Given the description of an element on the screen output the (x, y) to click on. 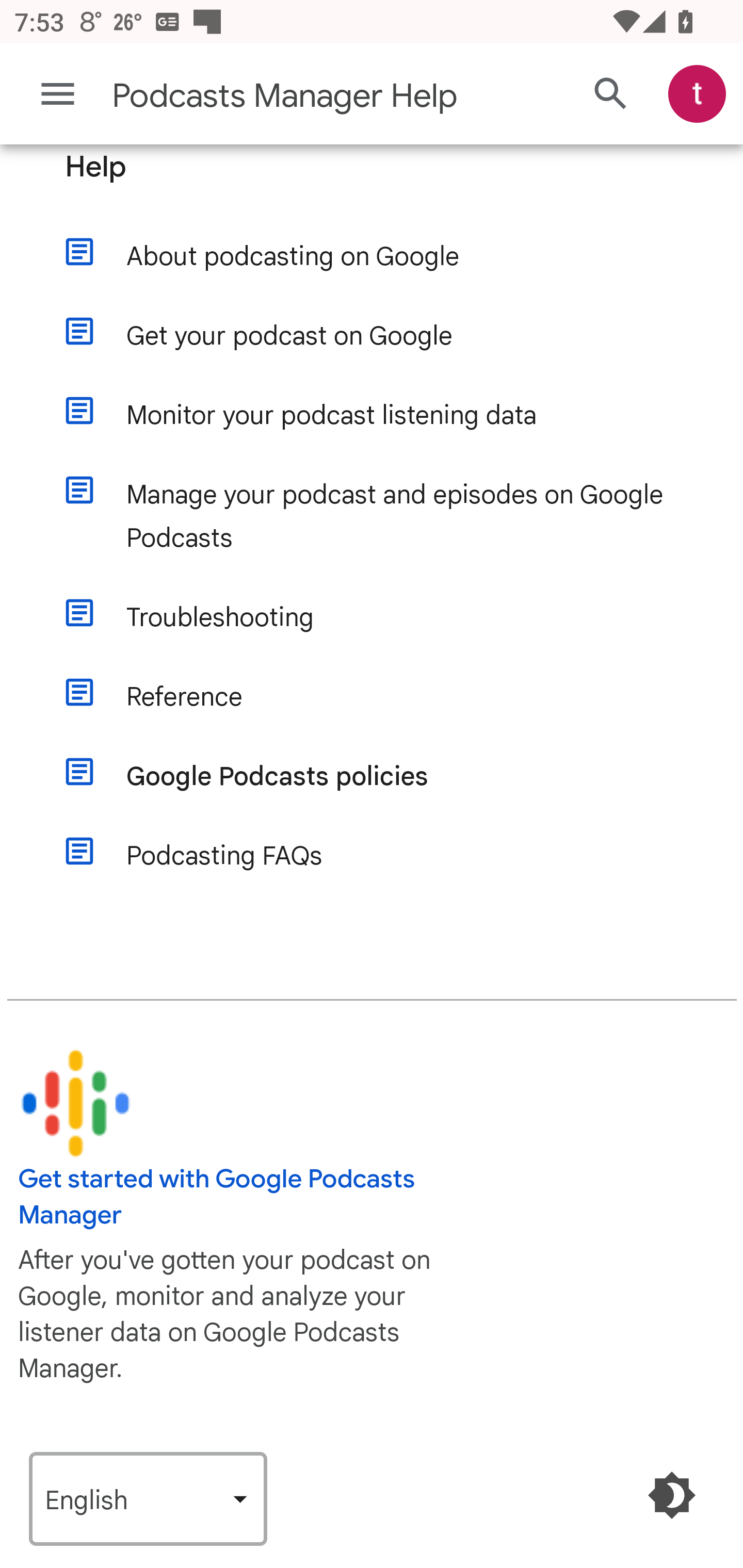
Main menu (58, 93)
Podcasts Manager Help (292, 96)
Search Help Center (611, 94)
Help Help Help (372, 180)
About podcasting on Google (390, 256)
Get your podcast on Google (390, 336)
Monitor your podcast listening data (390, 415)
Troubleshooting (390, 617)
Reference (390, 697)
Google Podcasts policies (390, 776)
Podcasting FAQs (390, 855)
9479755?hl=en&ref_topic=9476973 (75, 1102)
Get started with Google Podcasts Manager (216, 1196)
Language (English‎) (147, 1499)
Enable Dark Mode (672, 1495)
